Given the description of an element on the screen output the (x, y) to click on. 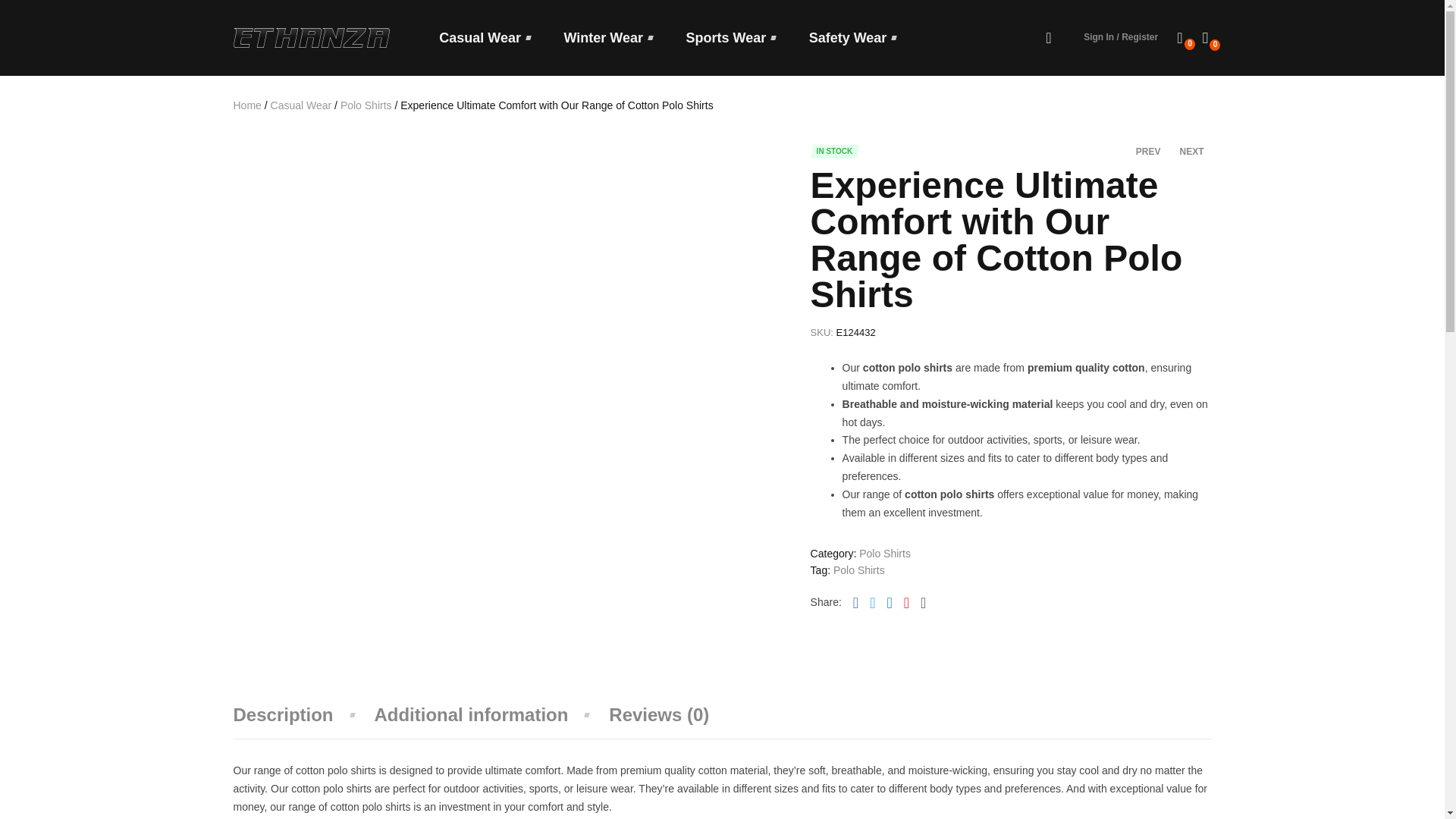
Sports Wear (730, 36)
Winter Wear (608, 36)
Safety Wear (852, 36)
Casual Wear (483, 36)
